Given the description of an element on the screen output the (x, y) to click on. 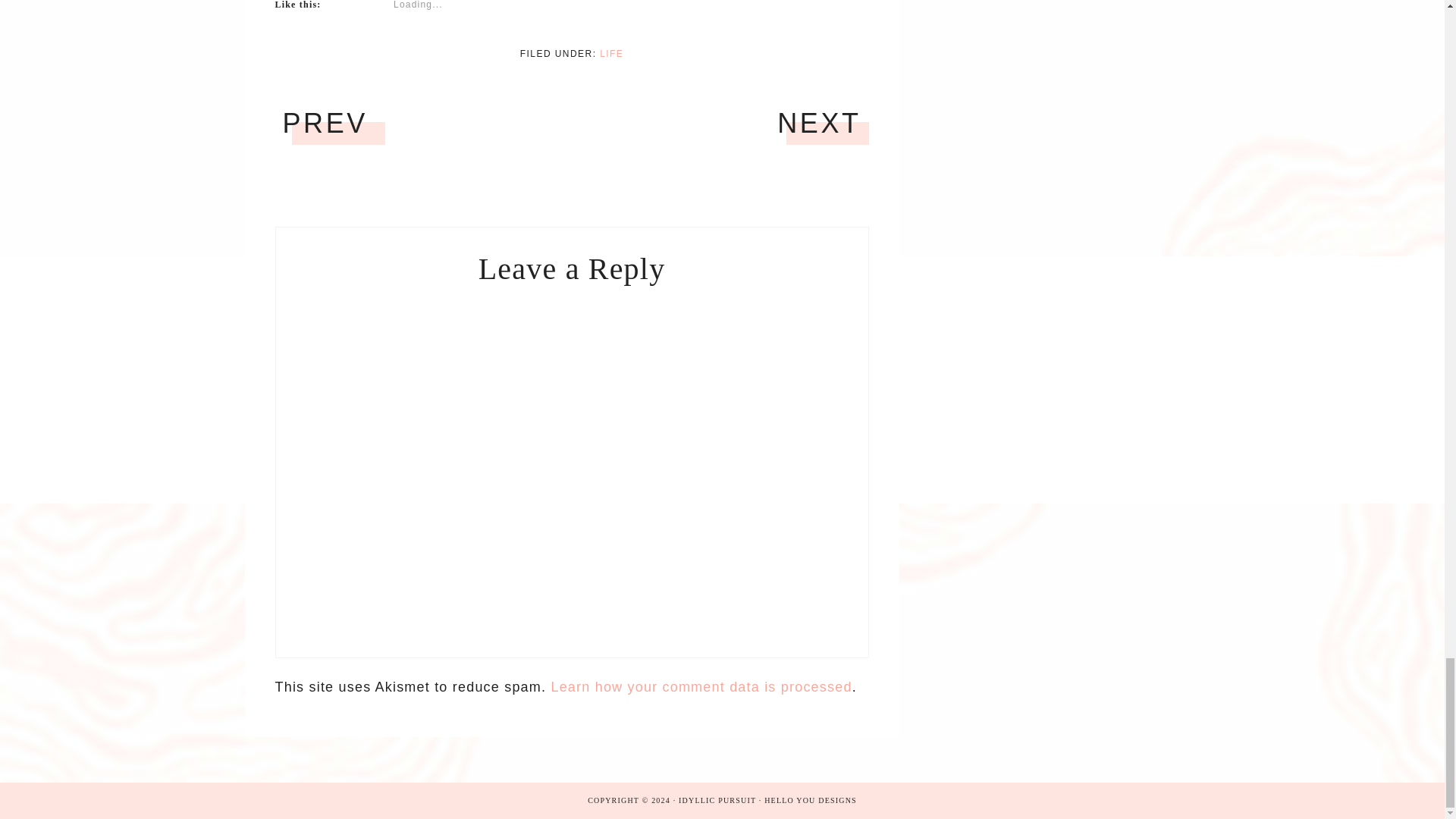
HELLO YOU DESIGNS (810, 800)
LIFE (611, 53)
PREV (324, 122)
NEXT (818, 122)
Learn how your comment data is processed (700, 686)
